Given the description of an element on the screen output the (x, y) to click on. 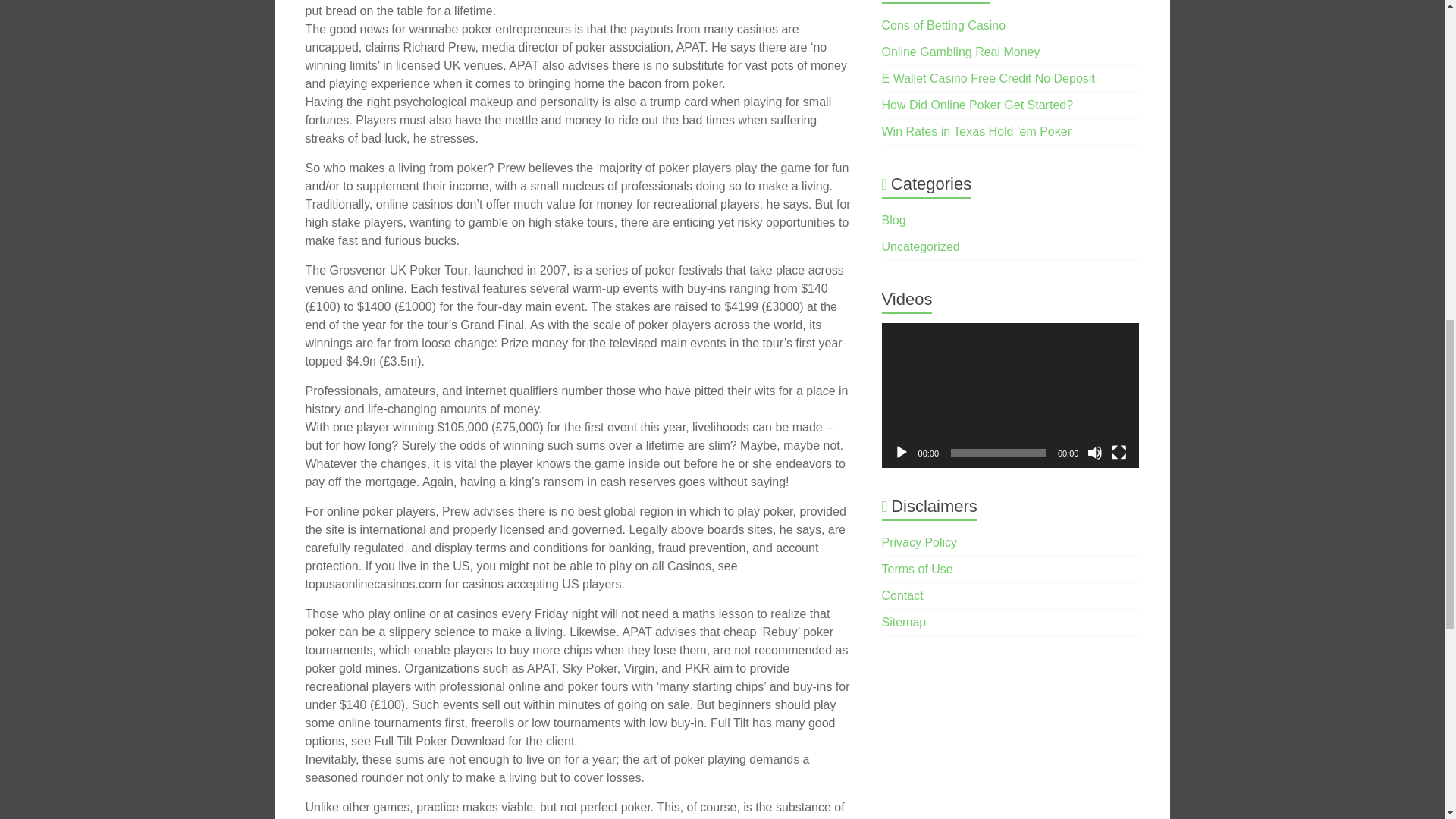
Online Gambling Real Money (961, 51)
Contact (902, 594)
Privacy Policy (920, 542)
Uncategorized (920, 246)
Cons of Betting Casino (944, 24)
Play (900, 452)
Fullscreen (1119, 452)
Mute (1094, 452)
How Did Online Poker Get Started? (978, 104)
Terms of Use (917, 568)
Sitemap (904, 621)
E Wallet Casino Free Credit No Deposit (988, 78)
Blog (893, 219)
